Given the description of an element on the screen output the (x, y) to click on. 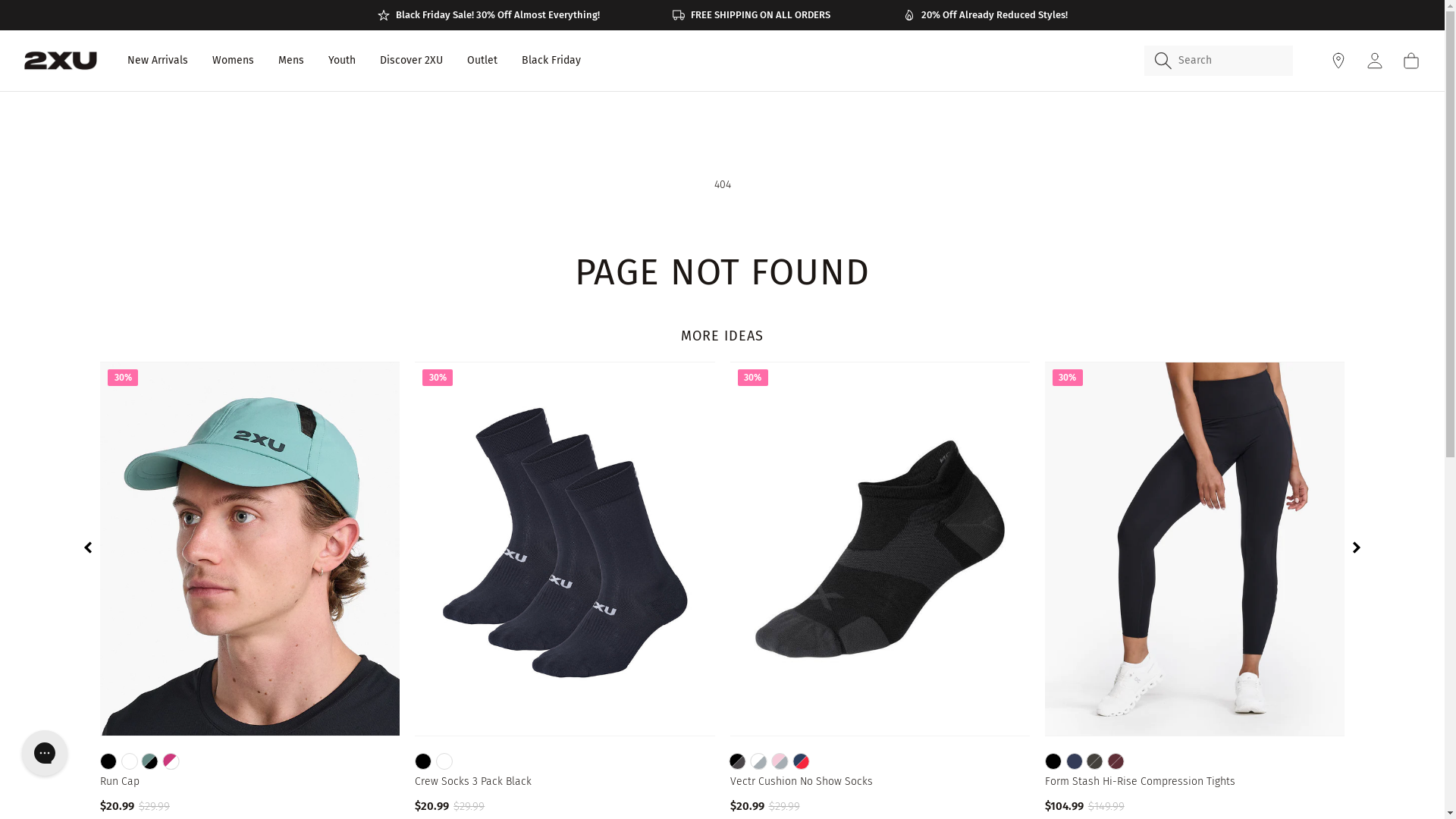
Mens Element type: text (291, 60)
Discover 2XU Element type: text (411, 60)
Cart Element type: text (1411, 60)
Outlet Element type: text (482, 60)
Crew Socks 3 Pack Black Element type: text (564, 781)
Black Friday Sale! 30% Off Almost Everything! Element type: text (488, 14)
Form Stash Hi-Rise Compression Tights Element type: text (1194, 781)
Login Element type: text (1374, 60)
Run Cap Element type: text (249, 781)
Vectr Cushion No Show Socks Element type: text (879, 781)
Womens Element type: text (233, 60)
Black Friday Element type: text (551, 60)
New Arrivals Element type: text (157, 60)
20% Off Already Reduced Styles! Element type: text (984, 14)
Gorgias live chat messenger Element type: hover (44, 752)
Youth Element type: text (341, 60)
